Given the description of an element on the screen output the (x, y) to click on. 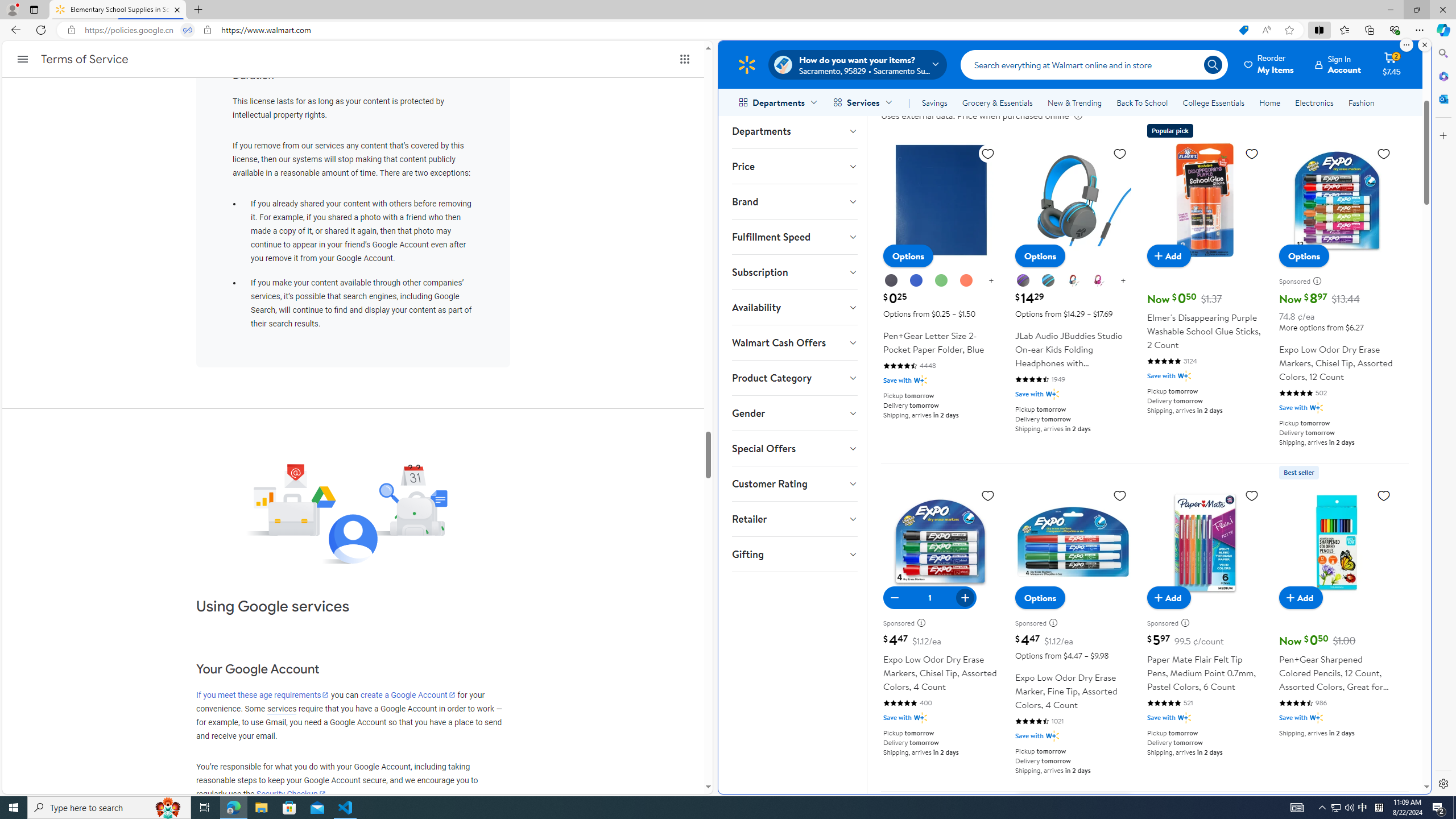
Fulfillment Speed (794, 236)
Electronics (1314, 102)
Refresh (40, 29)
Departments (794, 130)
Price (794, 166)
Close split screen. (1424, 45)
Address and search bar (658, 29)
